Given the description of an element on the screen output the (x, y) to click on. 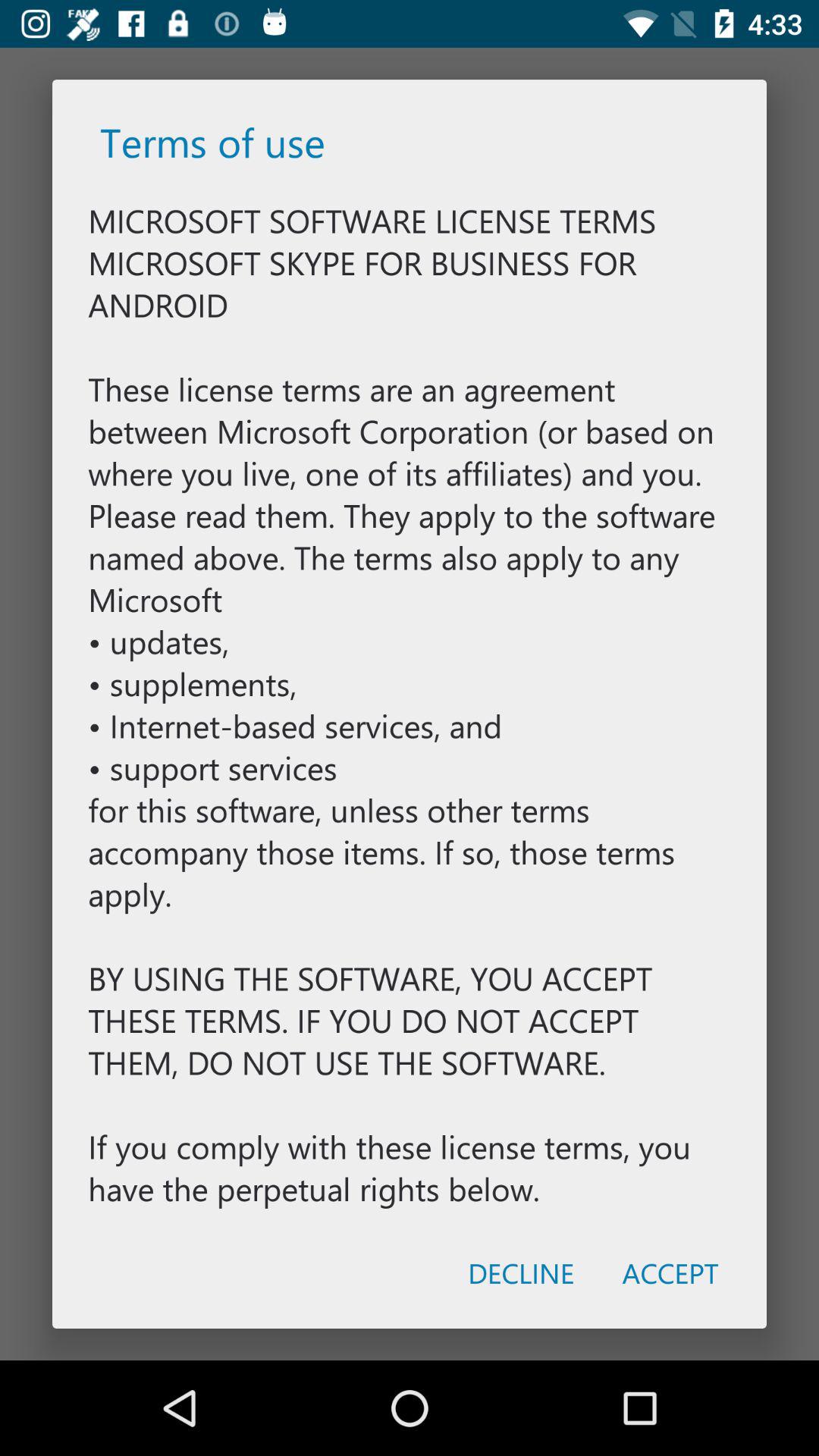
tap the icon next to accept (521, 1272)
